Given the description of an element on the screen output the (x, y) to click on. 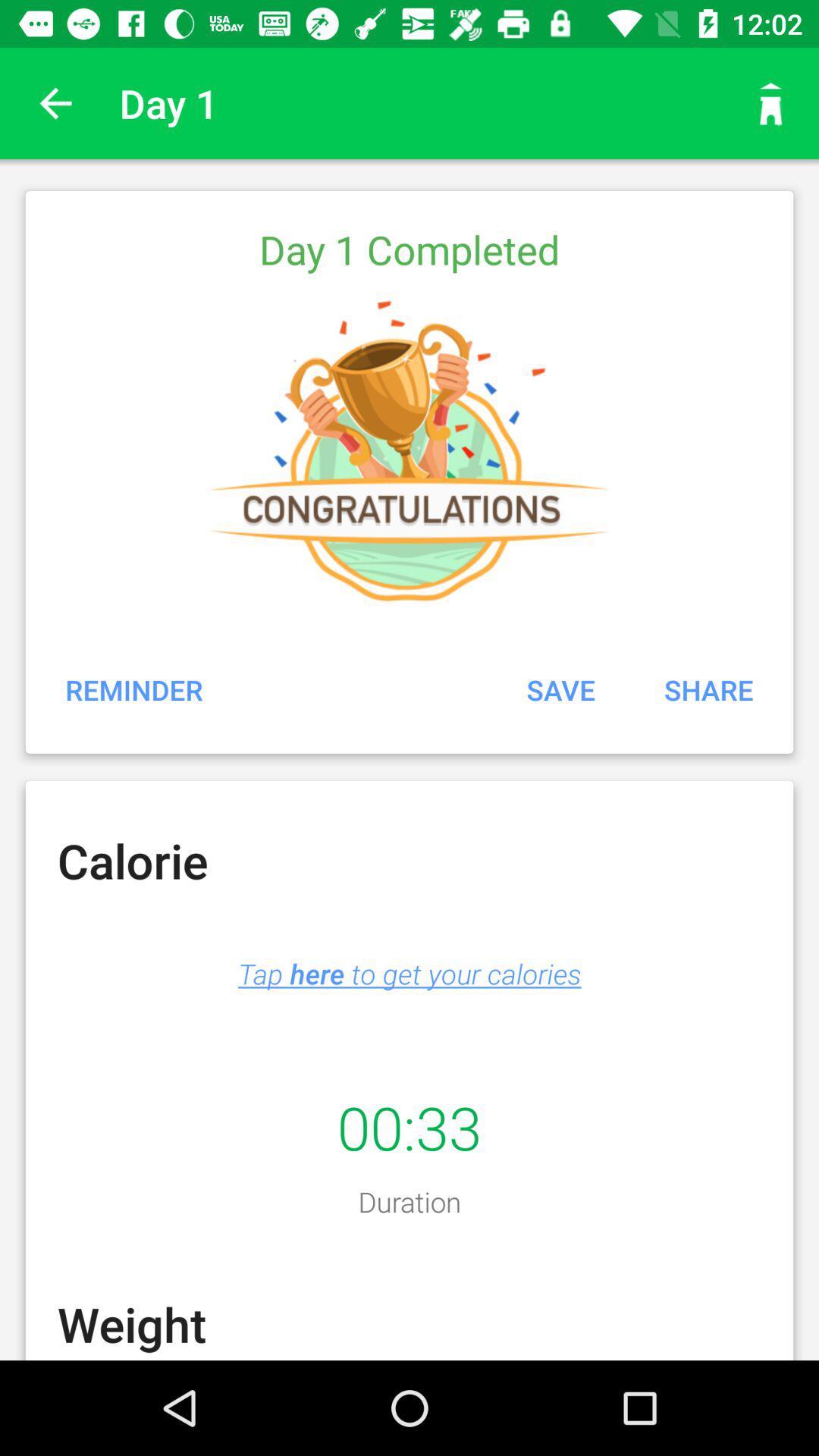
open the icon to the left of the day 1 (55, 103)
